Given the description of an element on the screen output the (x, y) to click on. 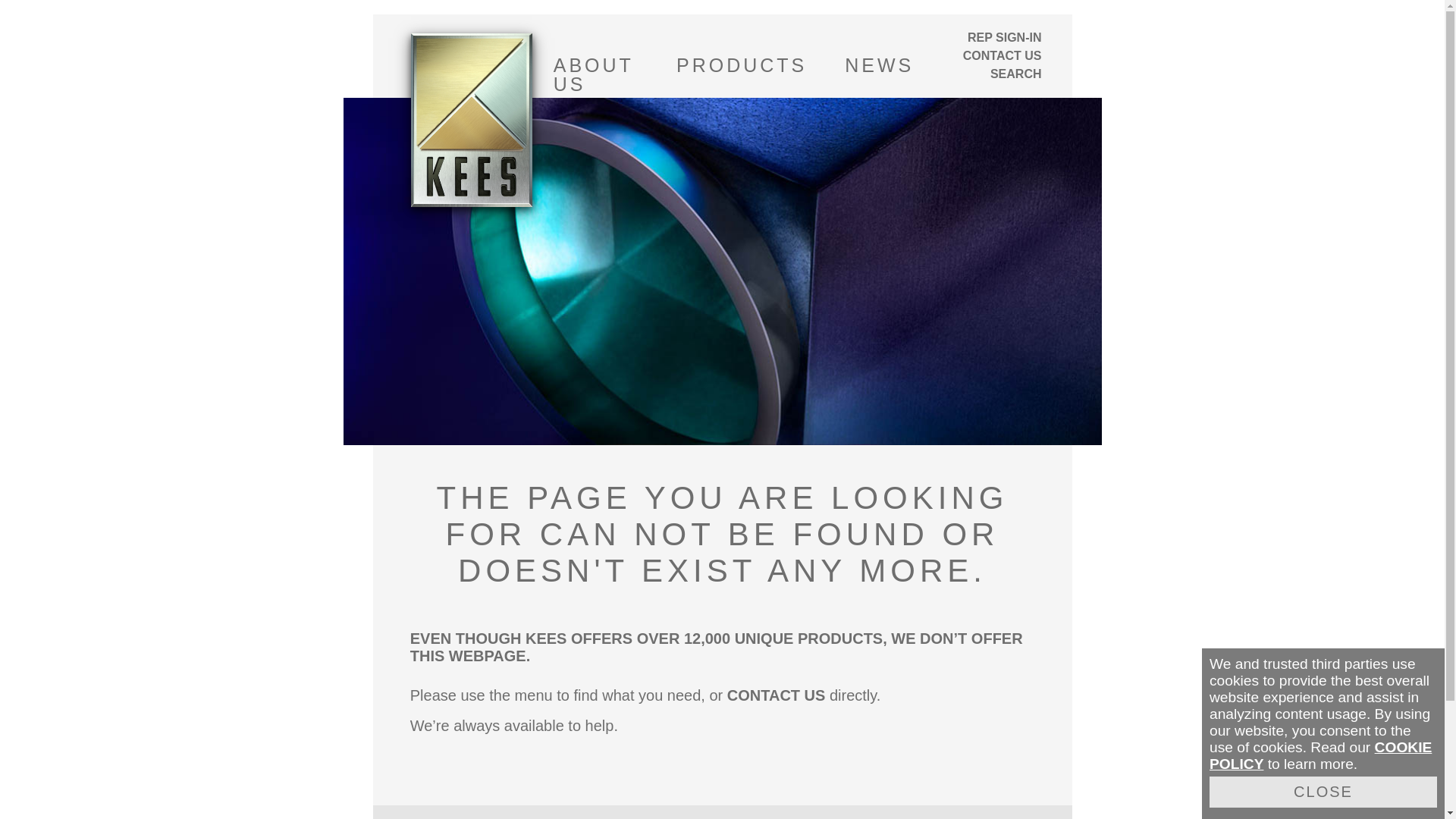
COOKIE POLICY (1320, 755)
Products (741, 65)
SEARCH (1016, 74)
Contact Us (989, 55)
REP SIGN-IN (989, 37)
PRODUCTS (741, 65)
CLOSE (1323, 791)
CONTACT US (989, 55)
CONTACT US (775, 695)
NEWS (879, 65)
Representative Sign in (989, 37)
News (879, 65)
ABOUT US (596, 65)
